Given the description of an element on the screen output the (x, y) to click on. 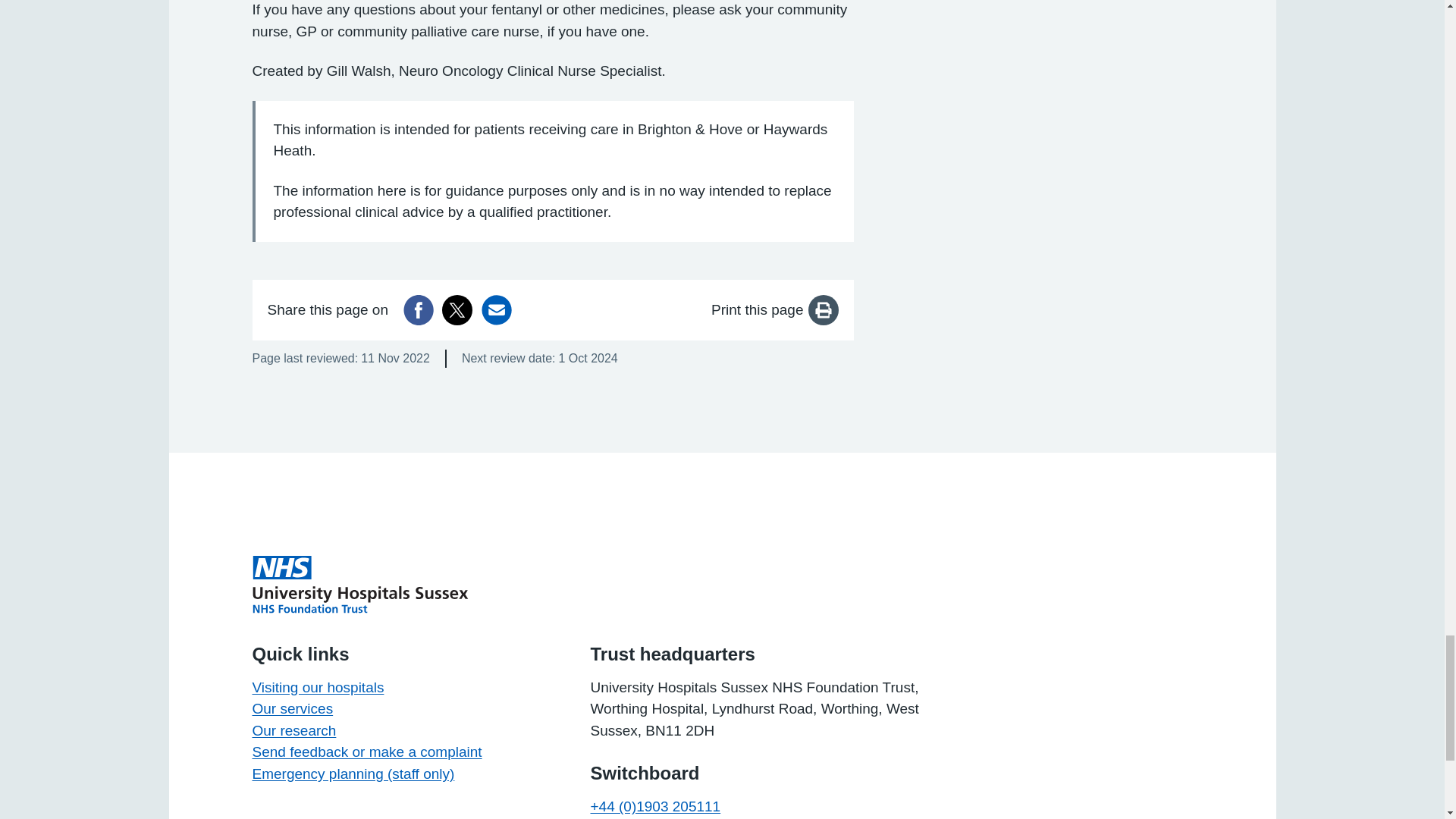
Excellence as our standard (359, 583)
Share via Email (496, 309)
Share on Twitter (456, 309)
Share on Facebook (418, 309)
